Given the description of an element on the screen output the (x, y) to click on. 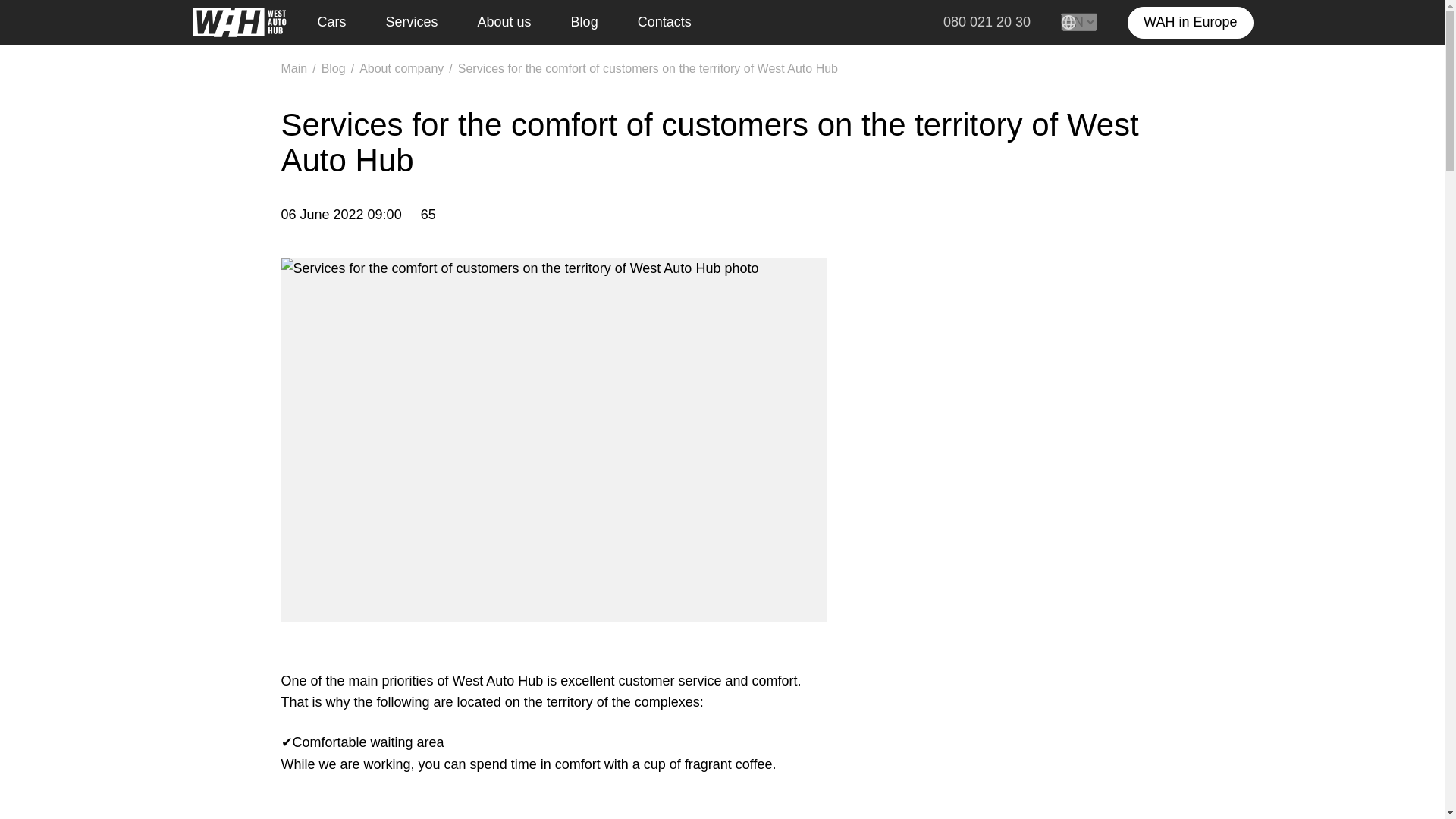
Cars (339, 22)
Services (419, 22)
Blog (333, 68)
080 021 20 30 (986, 22)
WAH in Europe (1189, 22)
Contacts (672, 22)
Blog (592, 22)
About us (512, 22)
Main (294, 68)
About company (401, 68)
